Given the description of an element on the screen output the (x, y) to click on. 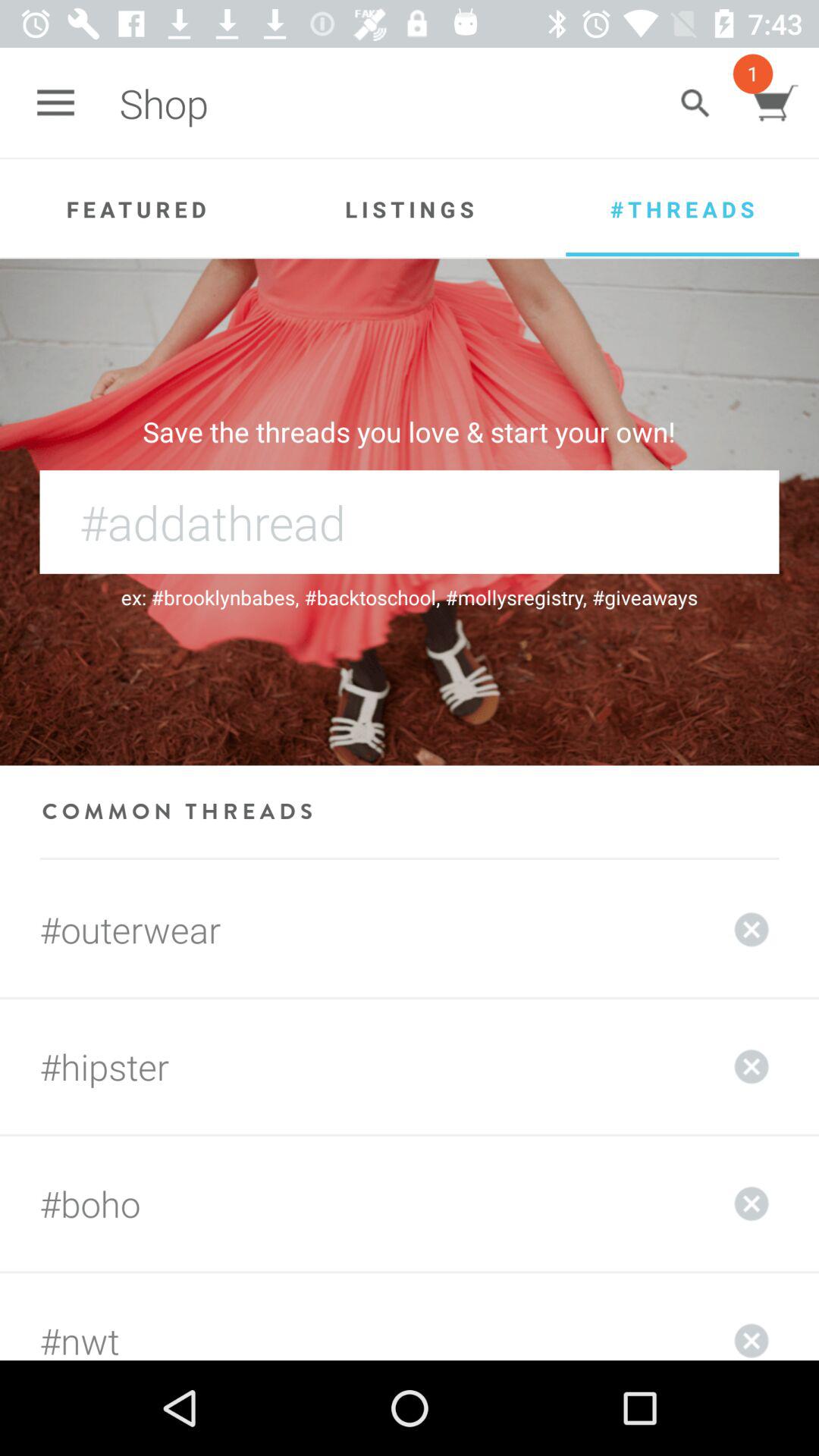
search icon (695, 103)
